Given the description of an element on the screen output the (x, y) to click on. 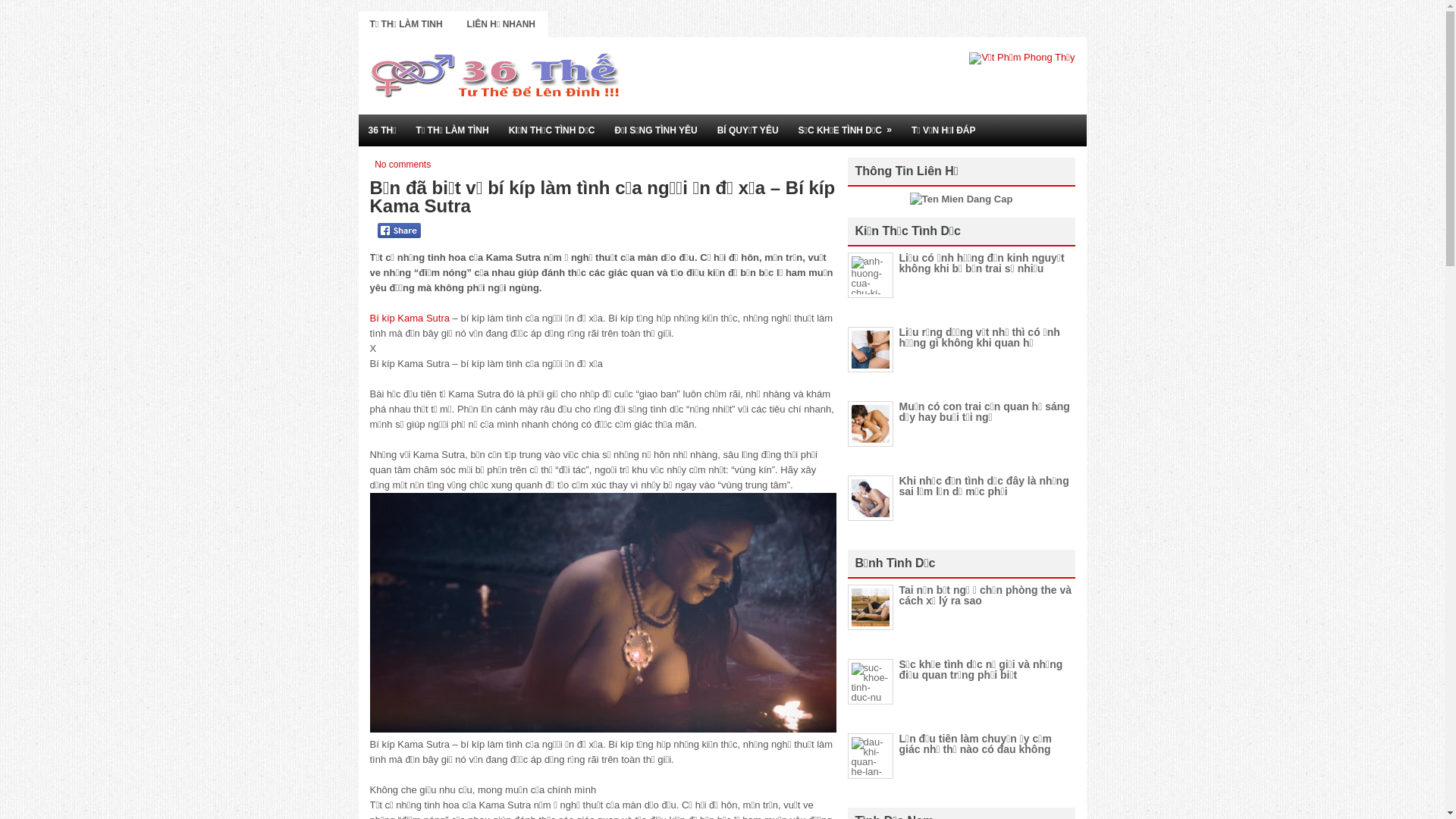
No comments Element type: text (402, 164)
